Given the description of an element on the screen output the (x, y) to click on. 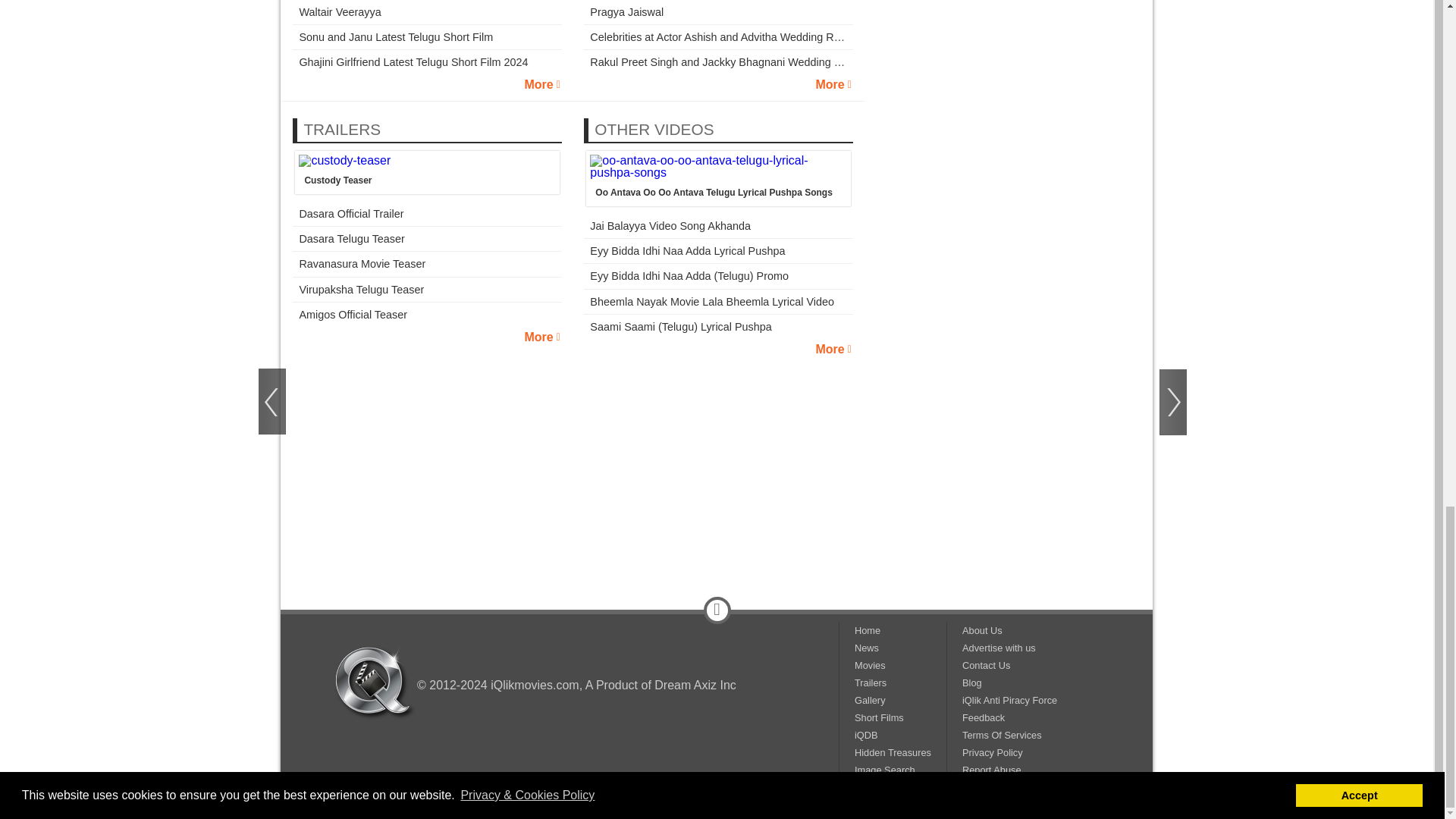
Advertisement (716, 453)
Logo - Home (374, 682)
